Given the description of an element on the screen output the (x, y) to click on. 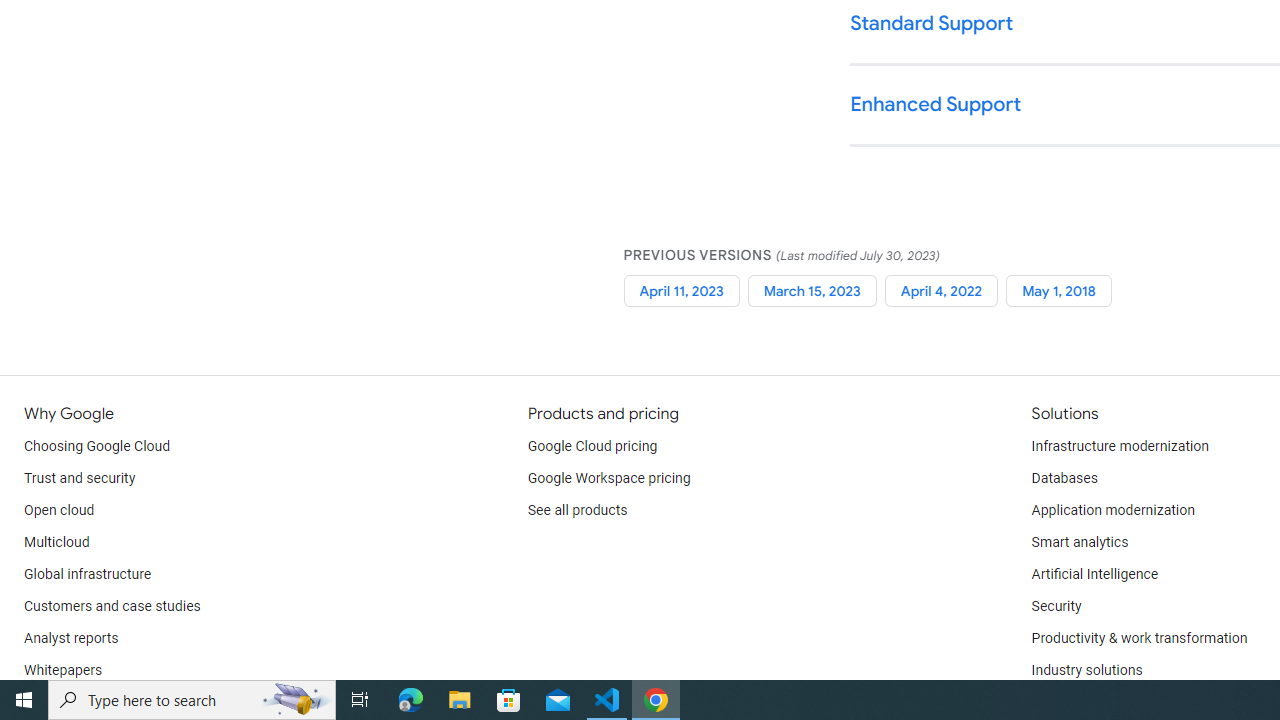
Google Cloud pricing (592, 446)
Whitepapers (63, 670)
Smart analytics (1079, 542)
Multicloud (56, 542)
Analyst reports (71, 638)
April 4, 2022 (941, 290)
Trust and security (79, 478)
Industry solutions (1086, 670)
March 15, 2023 (811, 290)
Open cloud (59, 511)
Infrastructure modernization (1119, 446)
Productivity & work transformation (1139, 638)
See all products (577, 511)
May 1, 2018 (1059, 290)
Global infrastructure (88, 574)
